Given the description of an element on the screen output the (x, y) to click on. 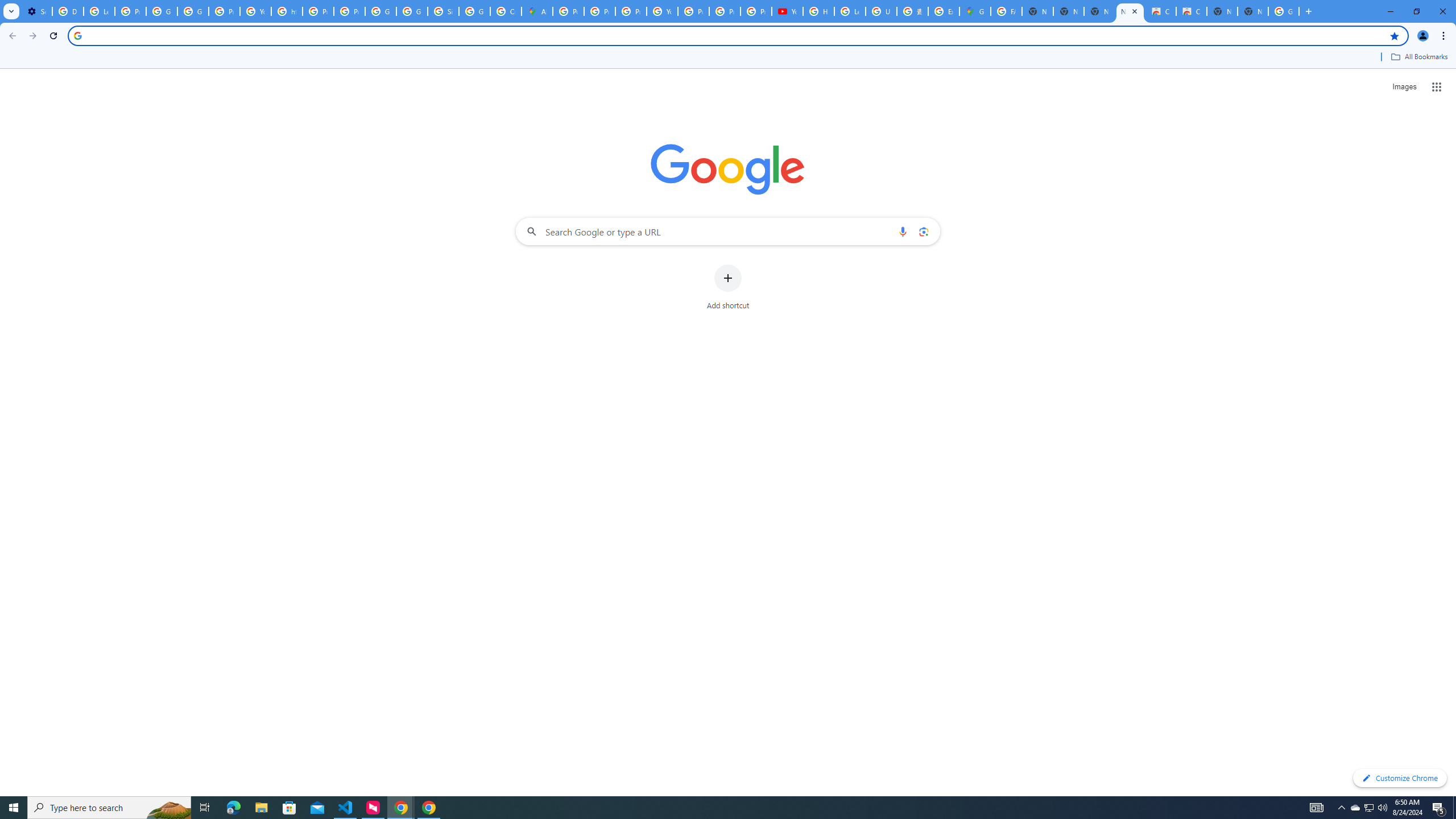
Policy Accountability and Transparency - Transparency Center (568, 11)
Privacy Checkup (756, 11)
YouTube (662, 11)
Create your Google Account (505, 11)
Settings - On startup (36, 11)
Google Maps (974, 11)
Privacy Help Center - Policies Help (599, 11)
